Given the description of an element on the screen output the (x, y) to click on. 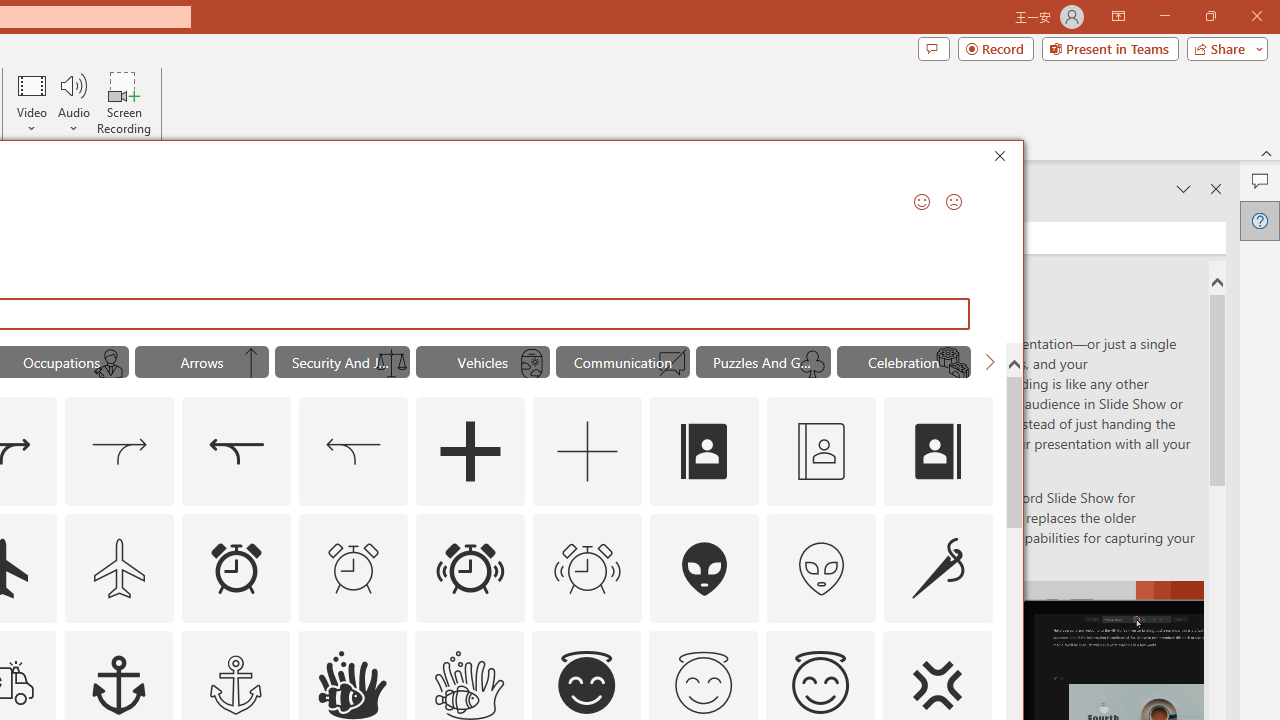
AutomationID: Icons_AddressBook_RTL (938, 452)
Video (31, 102)
AutomationID: Icons_ScalesofJustice_M (391, 364)
"Vehicles" Icons. (483, 362)
